Given the description of an element on the screen output the (x, y) to click on. 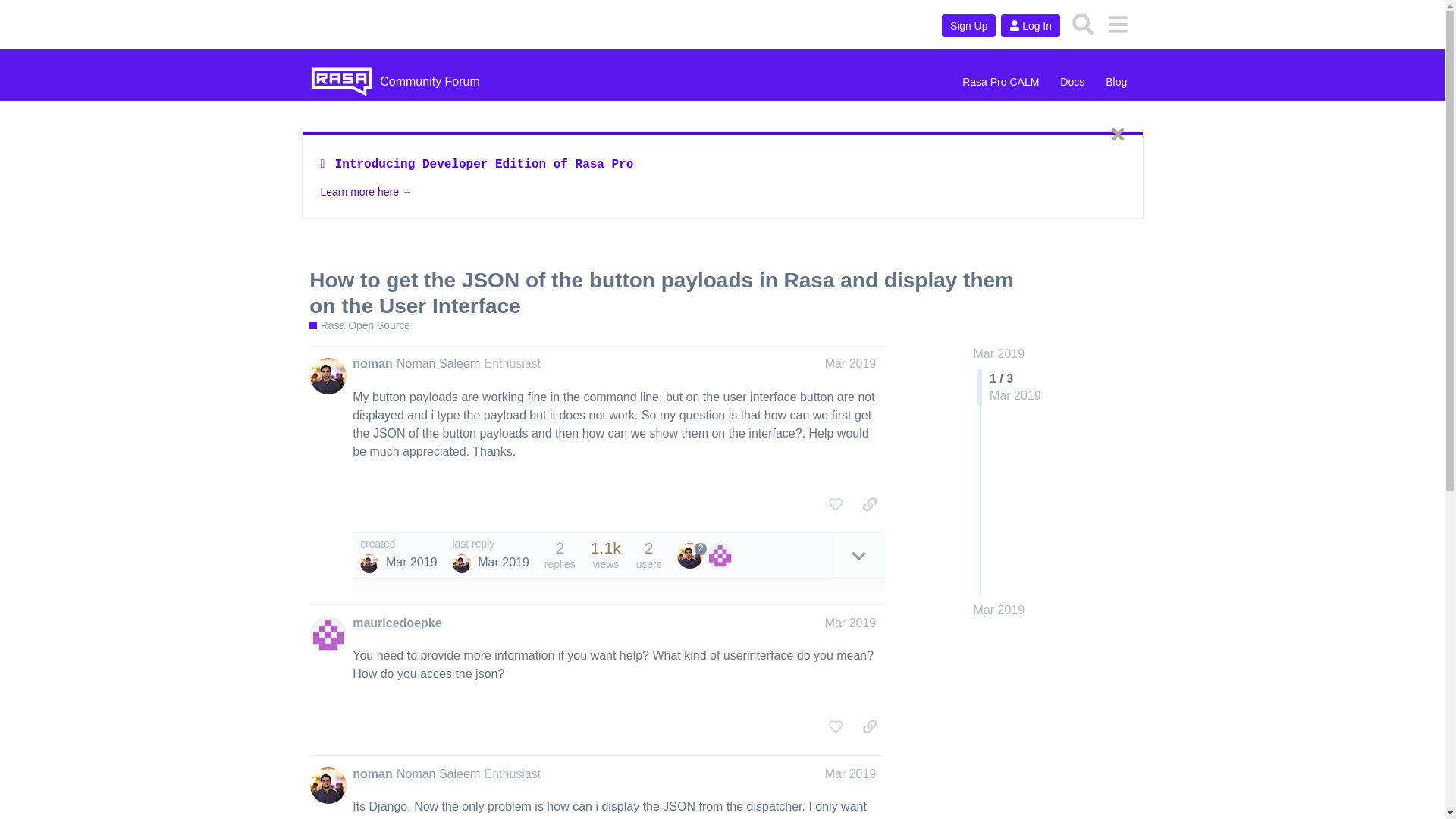
2 (692, 555)
Noman Saleem (461, 563)
Blog (1116, 81)
Rasa Open Source (359, 325)
Jump to the first post (999, 353)
like this post (835, 503)
Sign Up (968, 25)
Docs (1072, 81)
copy a link to this post to clipboard (869, 503)
Post date (850, 363)
Noman Saleem (438, 363)
noman (371, 773)
Search (1082, 23)
Noman Saleem (368, 563)
